Given the description of an element on the screen output the (x, y) to click on. 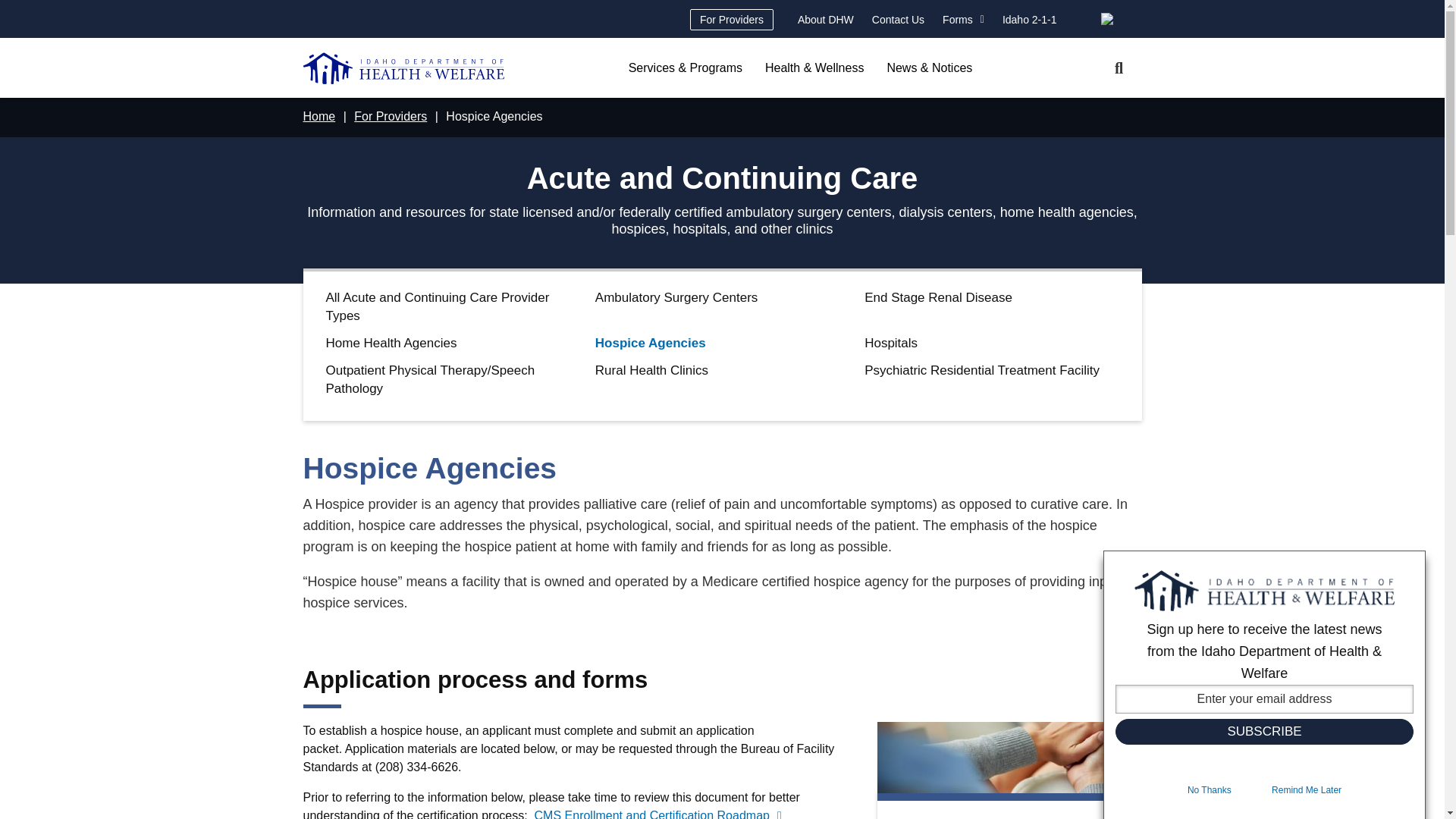
Forms (962, 19)
Contact Us (897, 19)
Contact Us (897, 19)
Resources for providers (731, 19)
Enter your email address (1264, 698)
Expand search tray. (1118, 67)
General Resources (1029, 19)
Home (403, 68)
About DHW (825, 19)
About DHW (825, 19)
Subscribe (1264, 731)
Idaho 2-1-1 (1029, 19)
For Providers (731, 19)
